Given the description of an element on the screen output the (x, y) to click on. 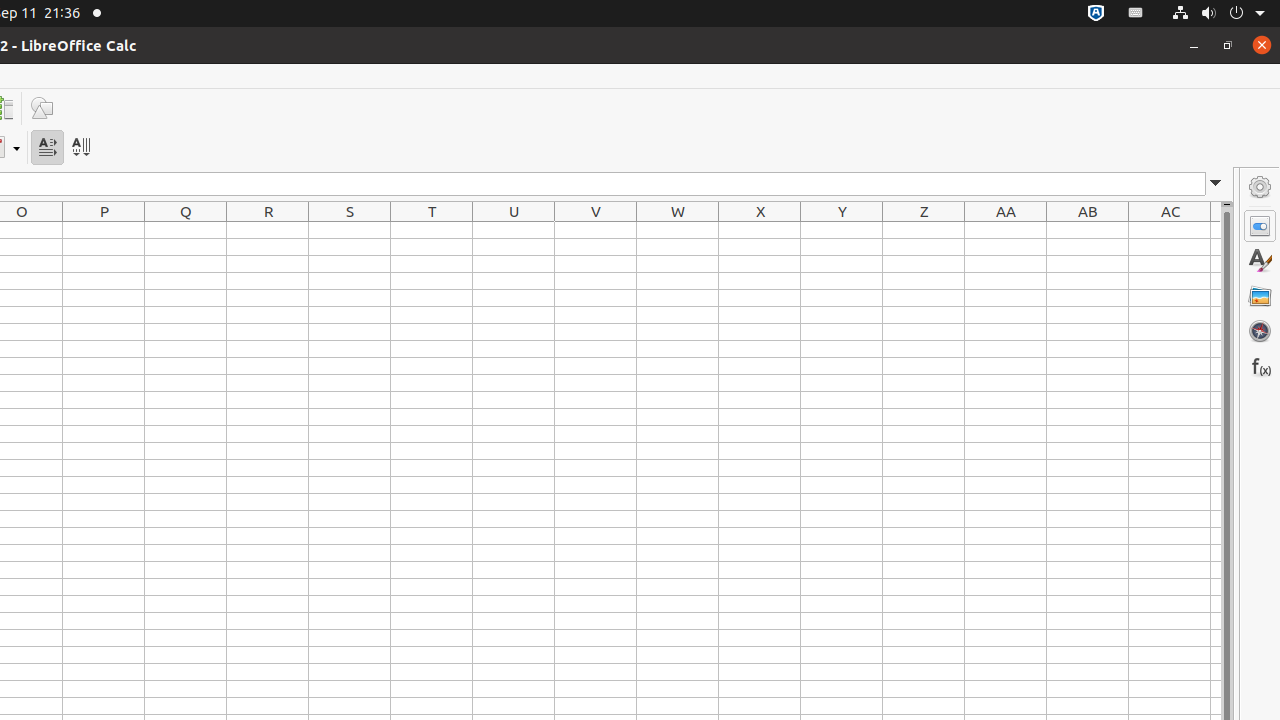
W1 Element type: table-cell (678, 230)
AC1 Element type: table-cell (1170, 230)
R1 Element type: table-cell (268, 230)
AB1 Element type: table-cell (1088, 230)
AD1 Element type: table-cell (1216, 230)
